Given the description of an element on the screen output the (x, y) to click on. 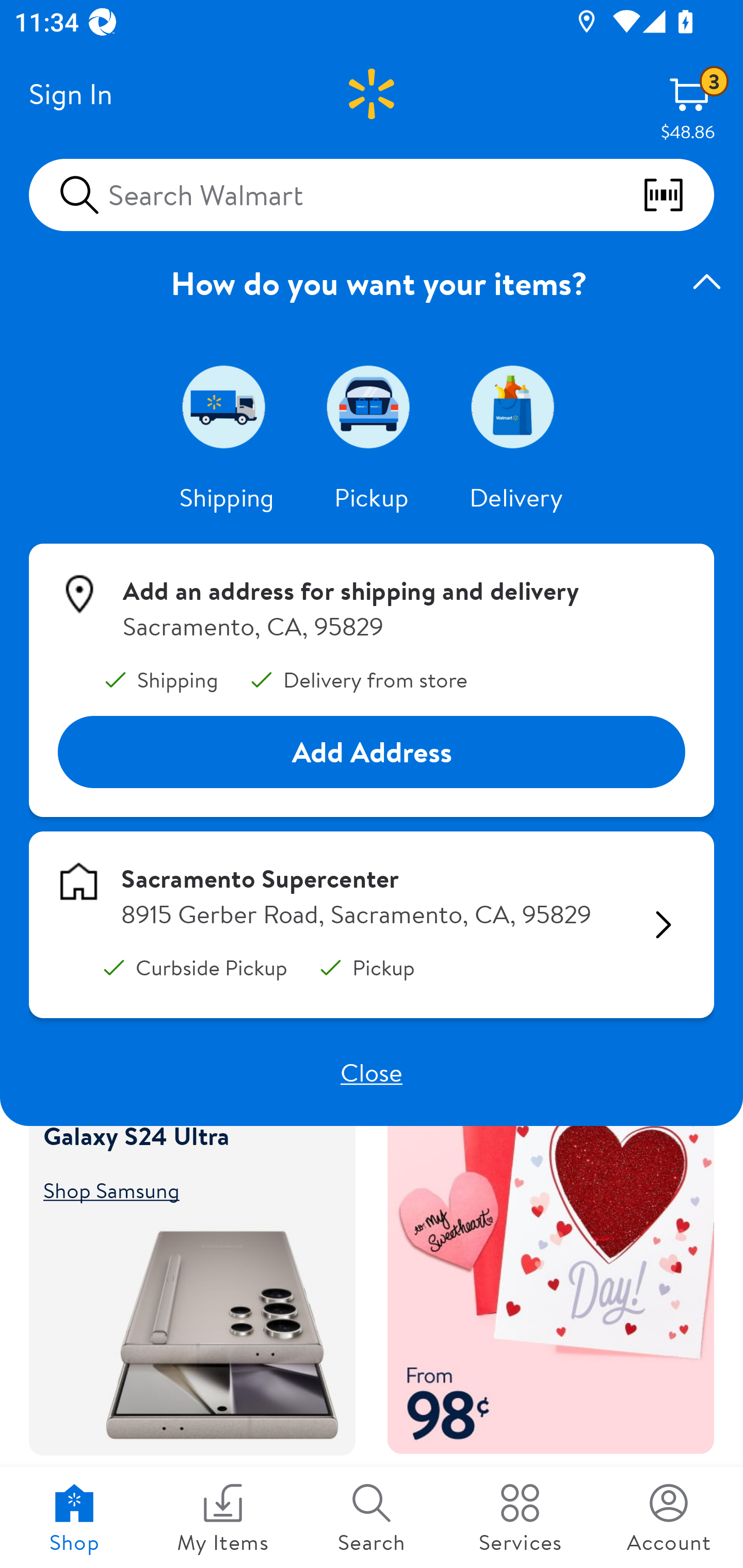
Sign In (70, 93)
Search Walmart scan barcodes qr codes and more (371, 194)
scan barcodes qr codes and more (677, 195)
How do you want your items? expanded (371, 282)
Shipping 1 of 3 (226, 406)
Pickup 2 of 3 (371, 406)
Delivery 3 of 3 (515, 406)
Add Address (371, 752)
Close (371, 1072)
Shop Samsung Shop Samsung Galaxy S24 Ultra (183, 1190)
My Items (222, 1517)
Search (371, 1517)
Services (519, 1517)
Account (668, 1517)
